Given the description of an element on the screen output the (x, y) to click on. 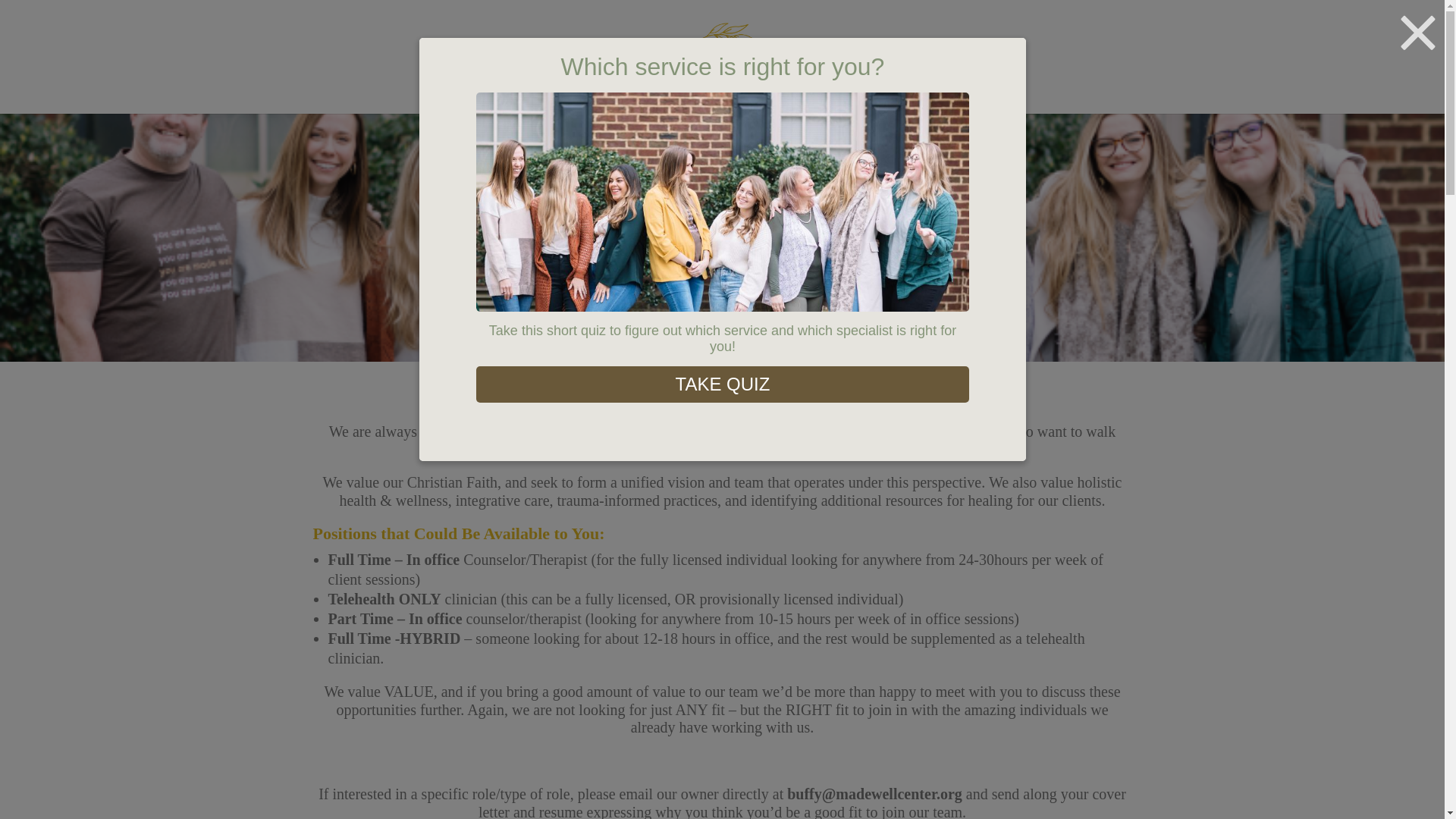
Services (522, 85)
Client Links (919, 85)
Opens a widget where you can find more information (1386, 792)
Meet the Team (597, 85)
Resources (835, 85)
